Given the description of an element on the screen output the (x, y) to click on. 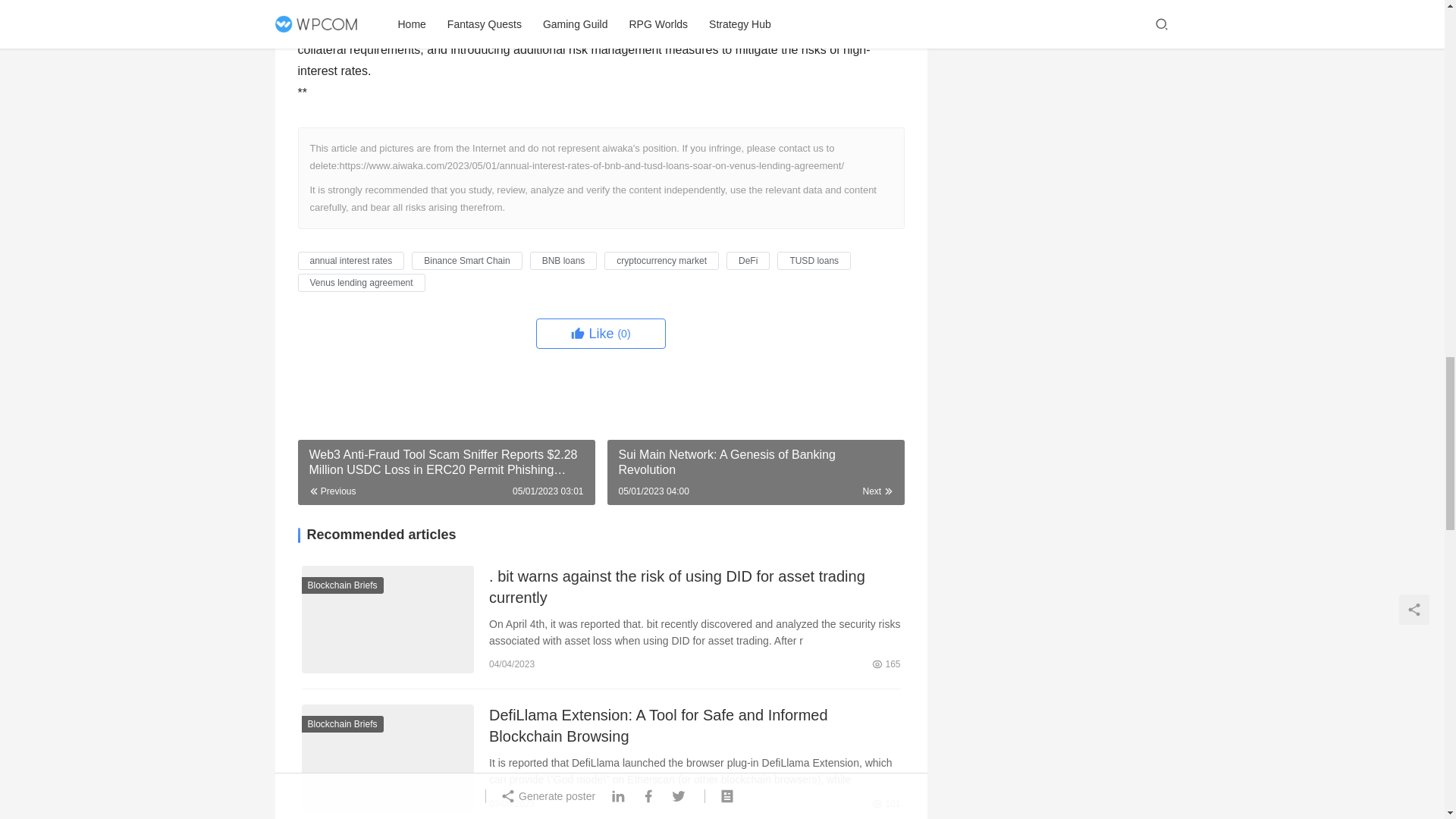
Venus lending agreement (361, 282)
BNB loans (562, 260)
Sui Main Network: A Genesis of Banking Revolution (755, 472)
Sui Main Network: A Genesis of Banking Revolution (755, 472)
cryptocurrency market (661, 260)
Binance Smart Chain (466, 260)
annual interest rates (350, 260)
DeFi (748, 260)
TUSD loans (813, 260)
Blockchain Briefs (342, 585)
Blockchain Briefs (342, 723)
